Given the description of an element on the screen output the (x, y) to click on. 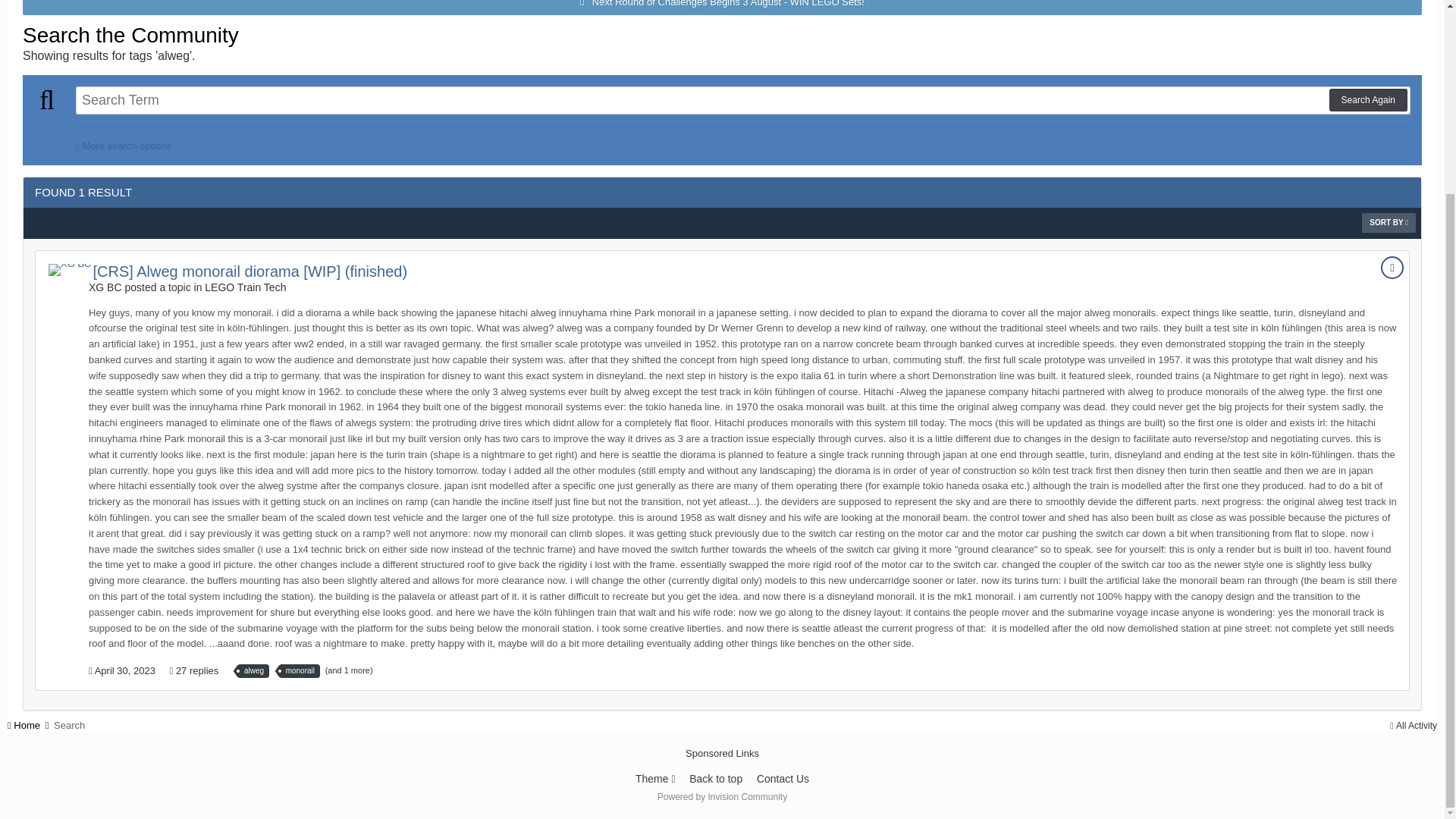
Go to XG BC's profile (69, 269)
Invision Community (722, 796)
Topic (1391, 267)
Find other content tagged with 'monorail' (300, 671)
Home (28, 725)
Find other content tagged with 'alweg' (253, 671)
